Given the description of an element on the screen output the (x, y) to click on. 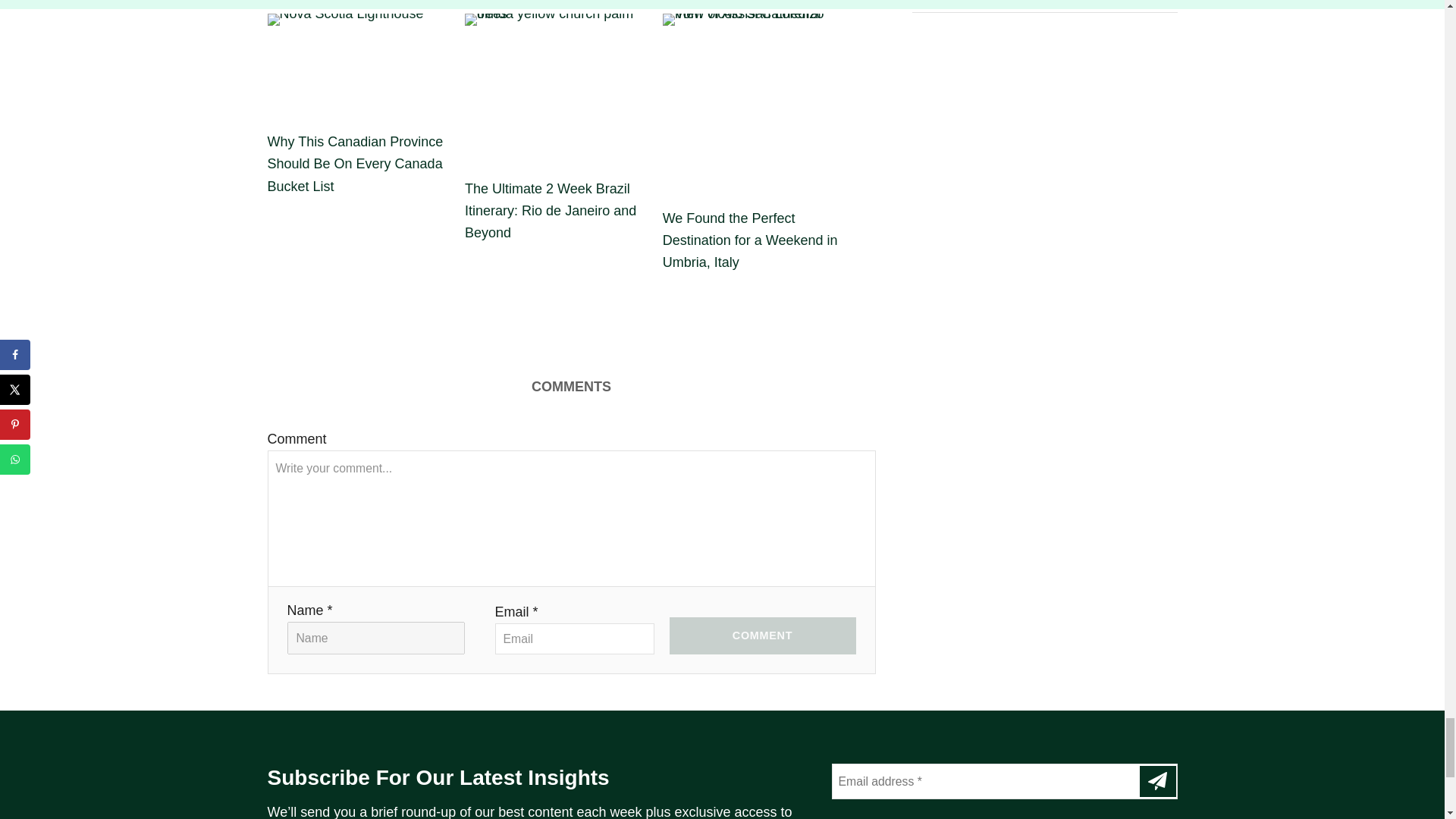
sign up (1156, 780)
